Given the description of an element on the screen output the (x, y) to click on. 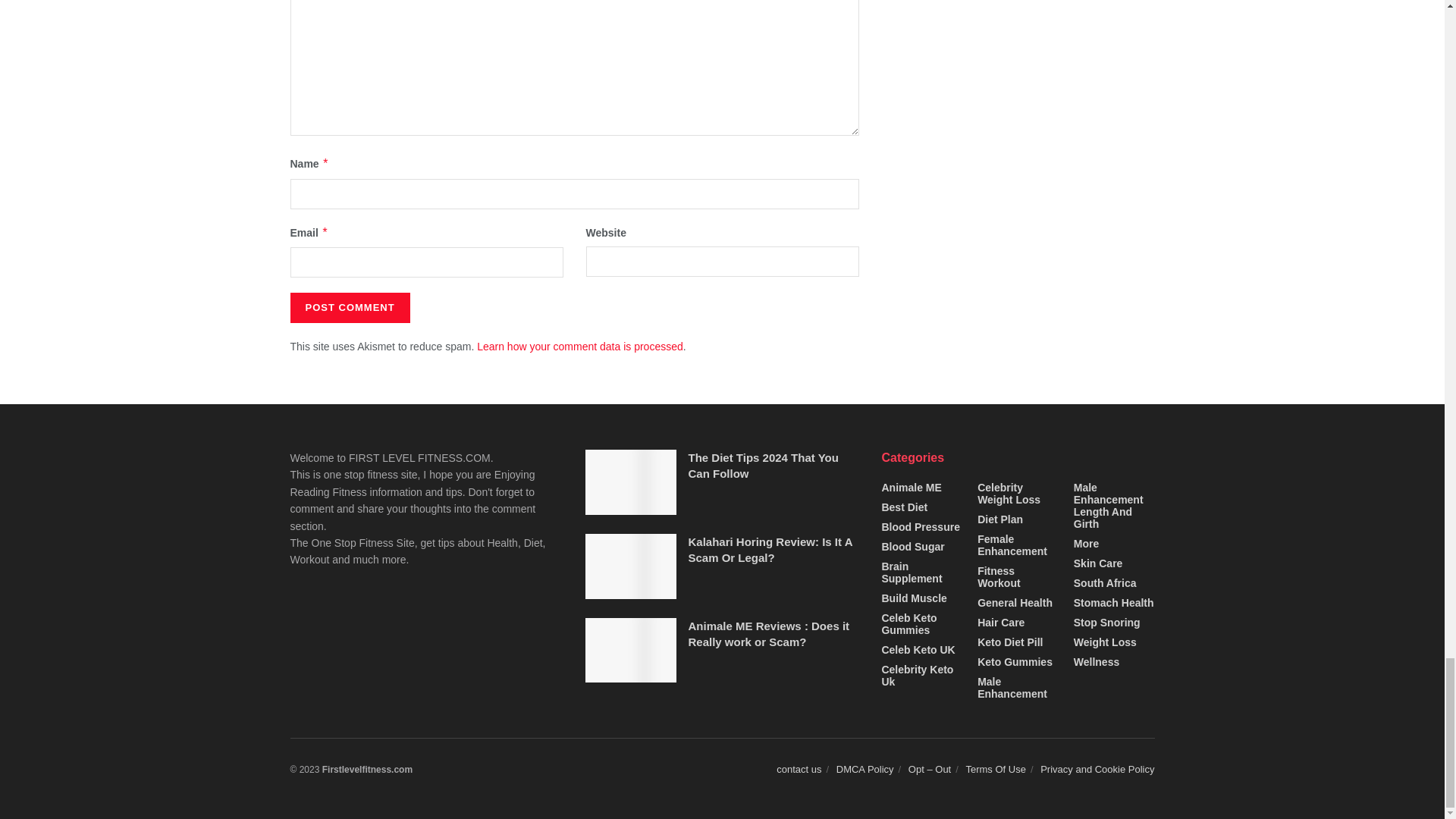
Post Comment (349, 307)
